Given the description of an element on the screen output the (x, y) to click on. 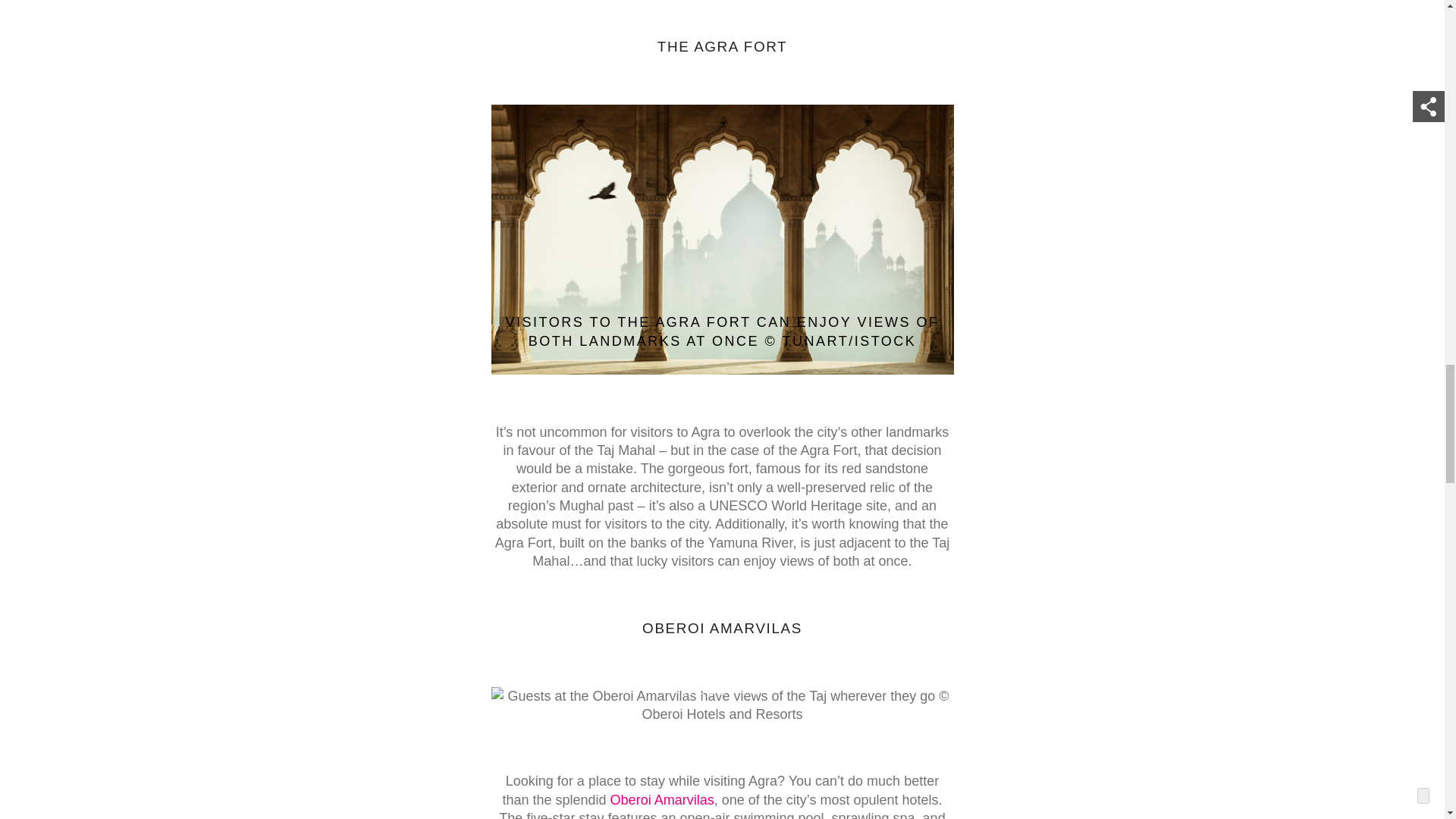
Oberoi Amarvilas (662, 800)
